Given the description of an element on the screen output the (x, y) to click on. 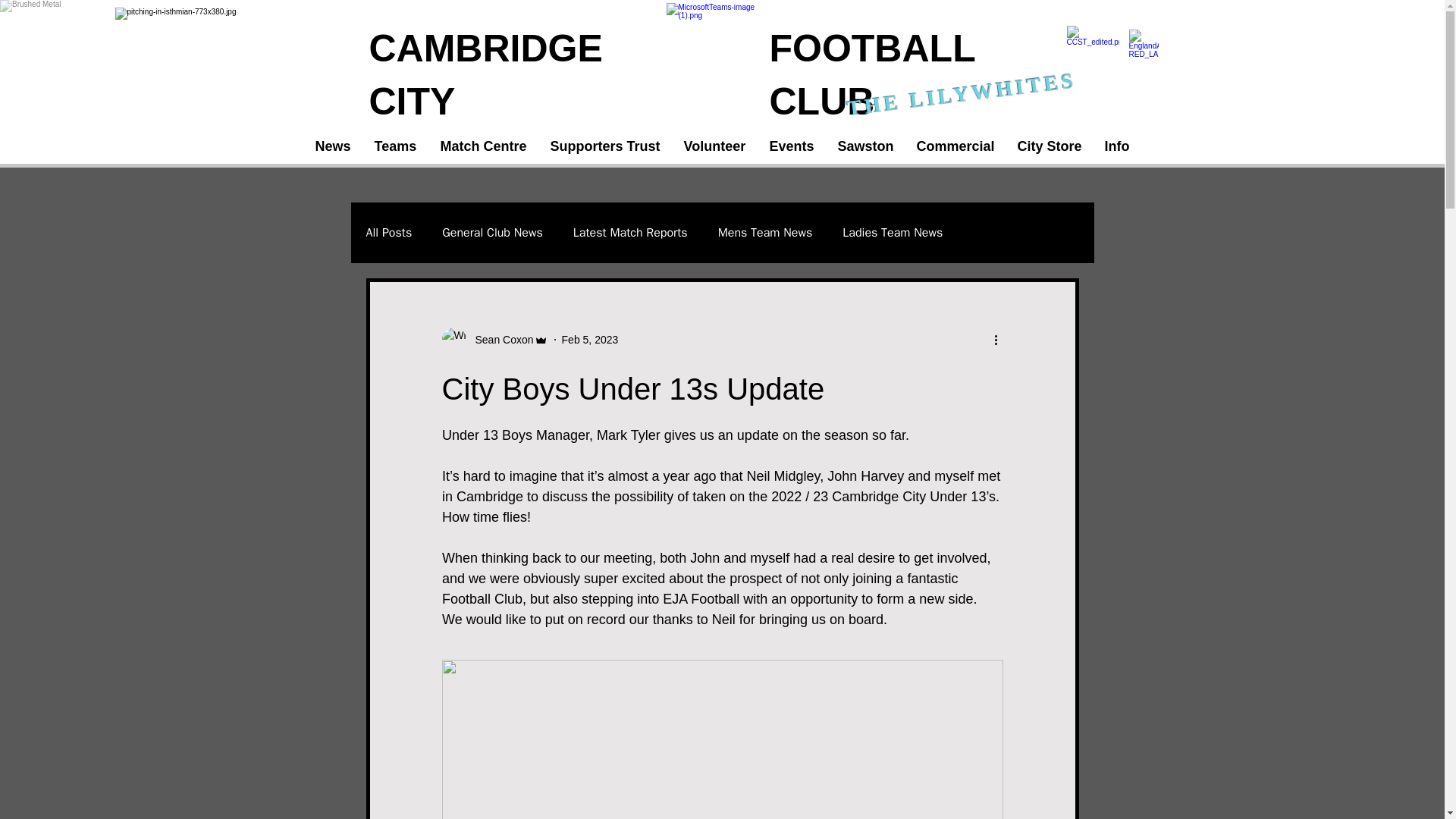
Volunteer (714, 146)
General Club News (492, 232)
Sean Coxon (498, 340)
Ladies Team News (892, 232)
All Posts (388, 232)
Feb 5, 2023 (590, 339)
Sawston (866, 146)
Mens Team News (764, 232)
Match Centre (483, 146)
Events (792, 146)
